Given the description of an element on the screen output the (x, y) to click on. 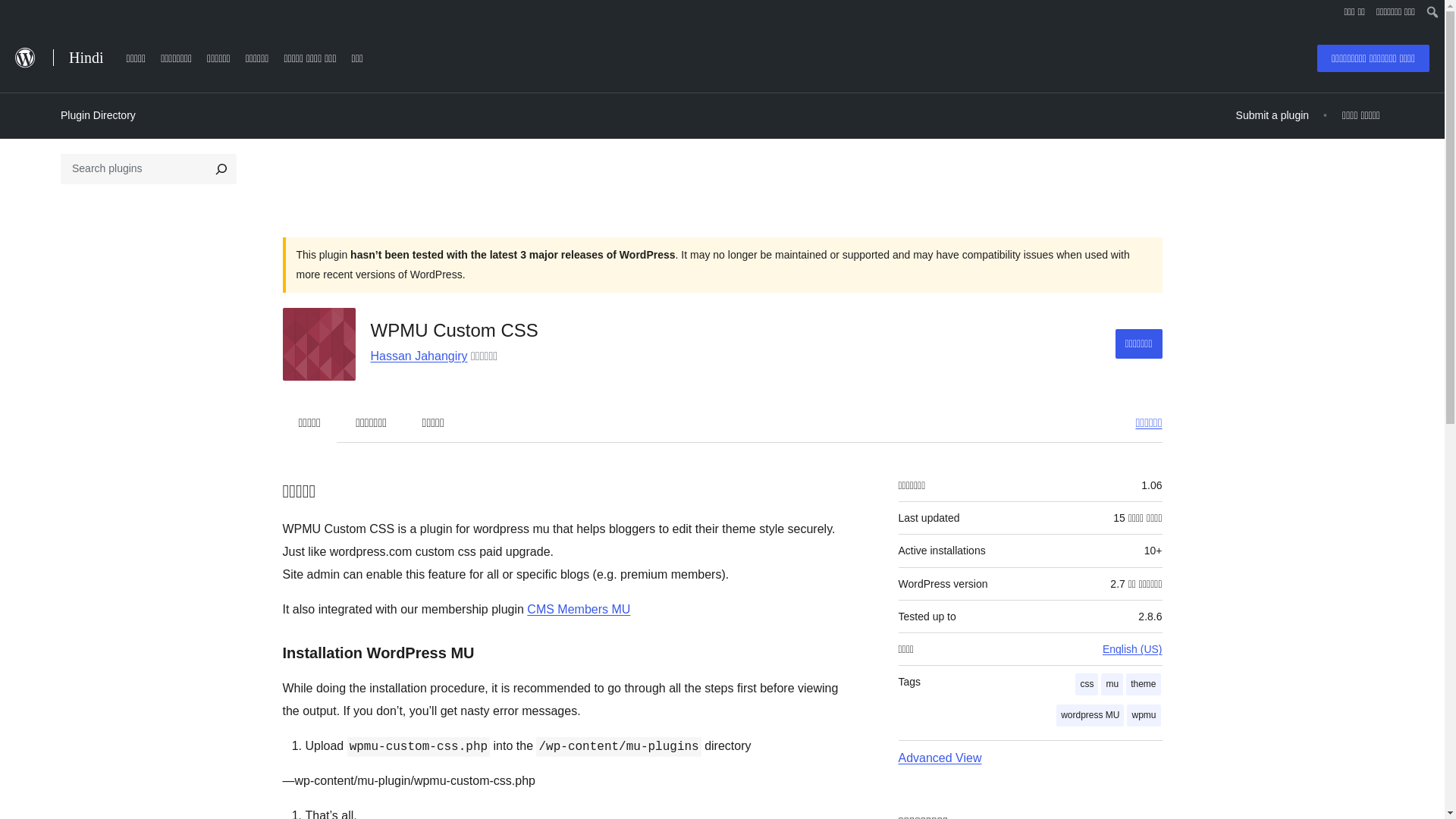
Hassan Jahangiry (418, 355)
Submit a plugin (1272, 115)
CMS Members MU (578, 608)
Plugin Directory (97, 115)
